Given the description of an element on the screen output the (x, y) to click on. 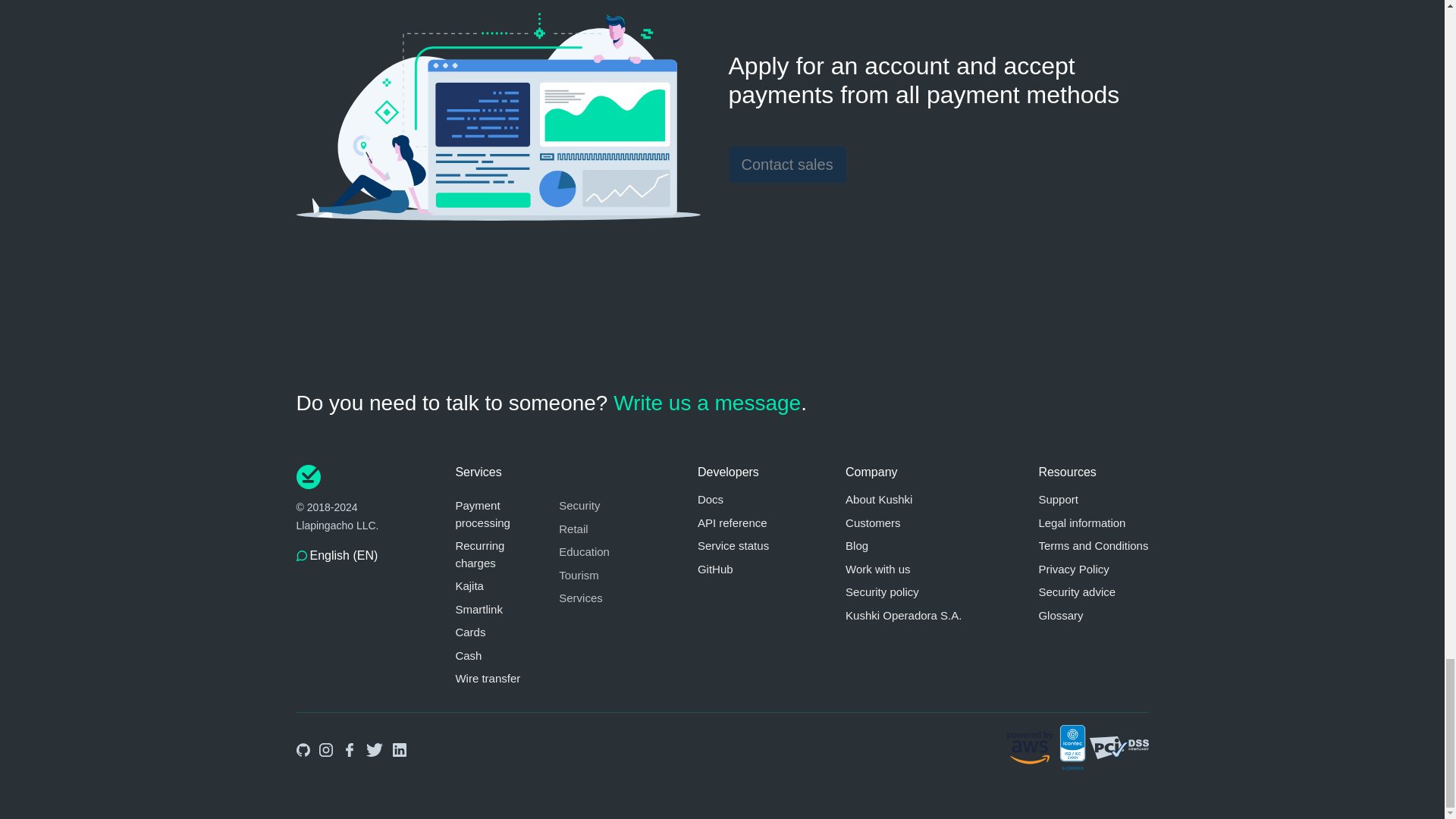
Contact sales (786, 164)
